Given the description of an element on the screen output the (x, y) to click on. 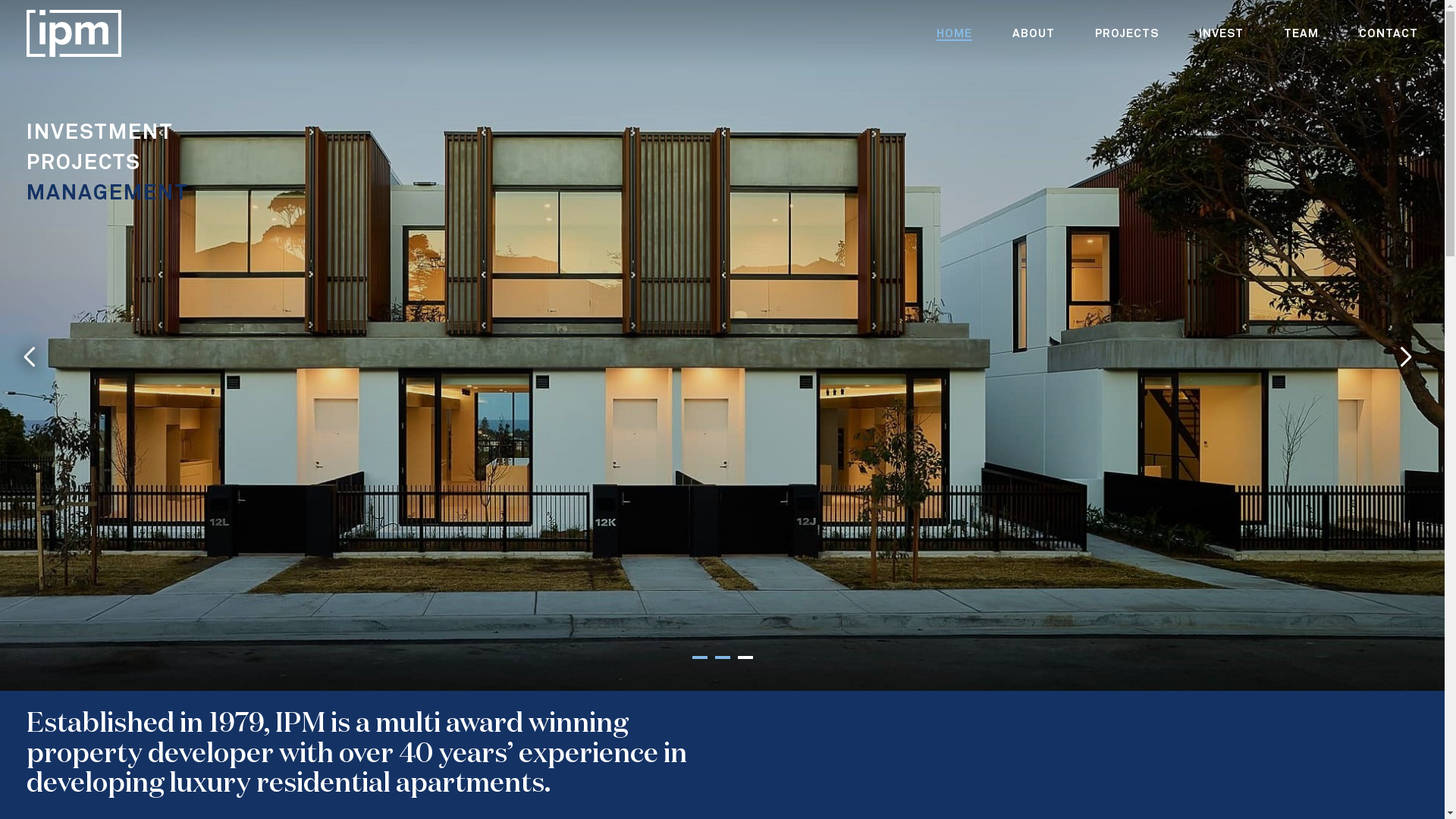
2 Element type: text (721, 656)
1 Element type: text (698, 656)
CONTACT Element type: text (1388, 33)
3 Element type: text (744, 656)
ABOUT Element type: text (1033, 33)
PROJECTS Element type: text (1126, 33)
HOME Element type: text (954, 34)
INVEST Element type: text (1220, 33)
TEAM Element type: text (1300, 33)
